Given the description of an element on the screen output the (x, y) to click on. 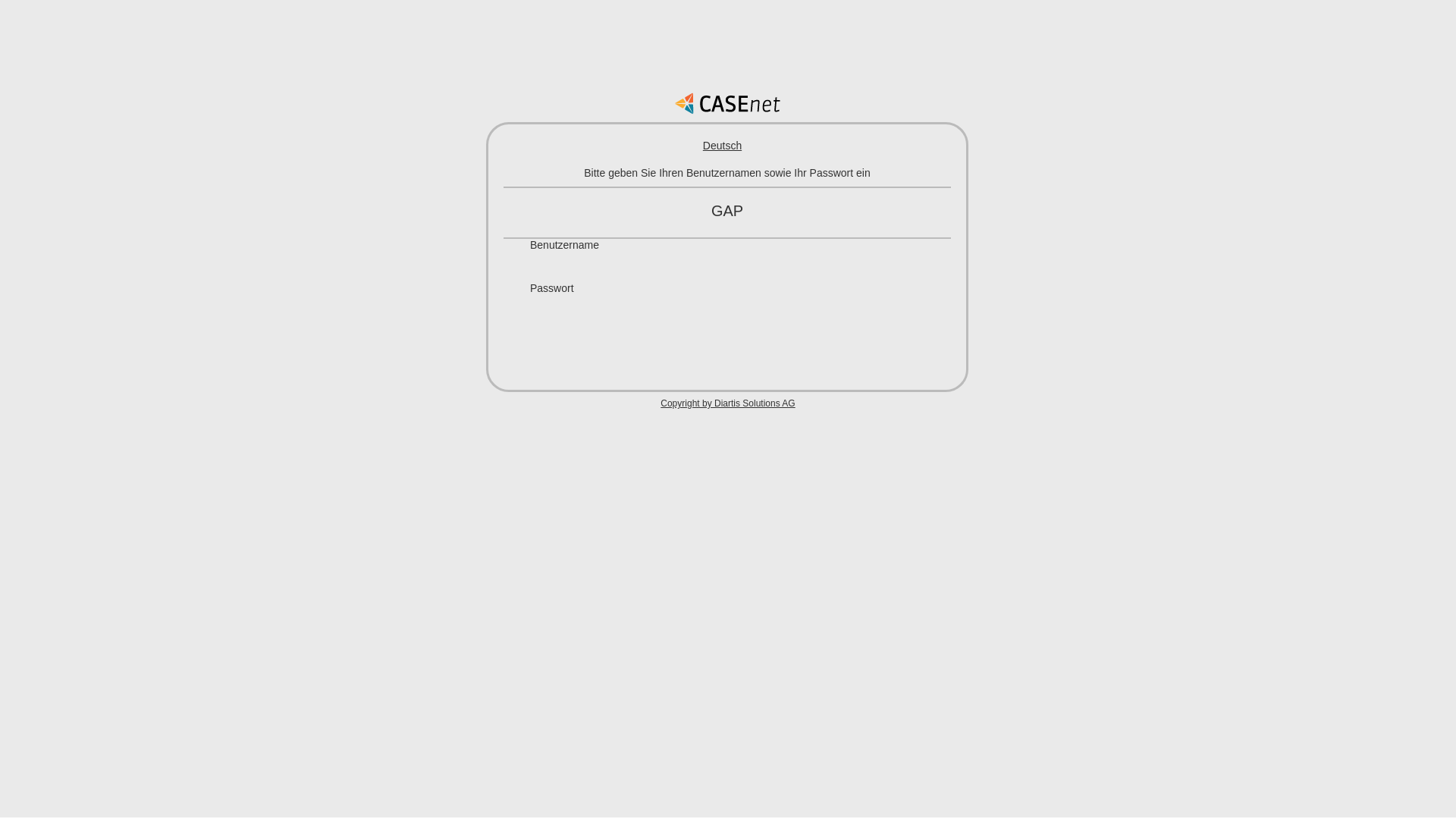
Copyright by Diartis Solutions AG Element type: text (727, 403)
Deutsch Element type: text (721, 145)
